Given the description of an element on the screen output the (x, y) to click on. 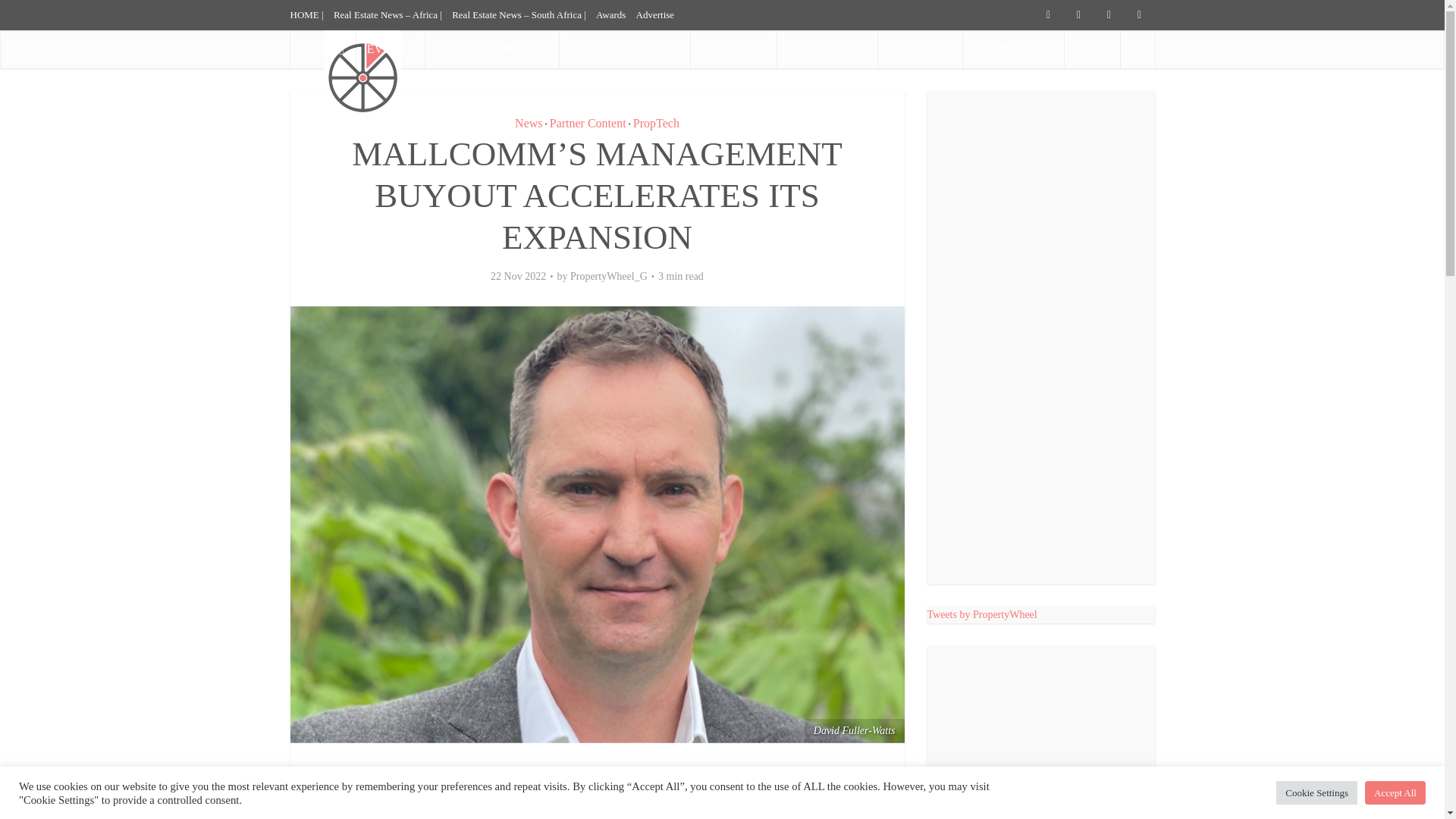
PROPTECH (919, 48)
RESEARCH (733, 48)
Advertise (655, 14)
Awards (610, 14)
3rd party ad content (1040, 744)
RESIDENTIAL (1013, 48)
RESOURCES (826, 48)
3rd party ad content (878, 71)
EVENTS (390, 48)
NEWS (322, 48)
